Given the description of an element on the screen output the (x, y) to click on. 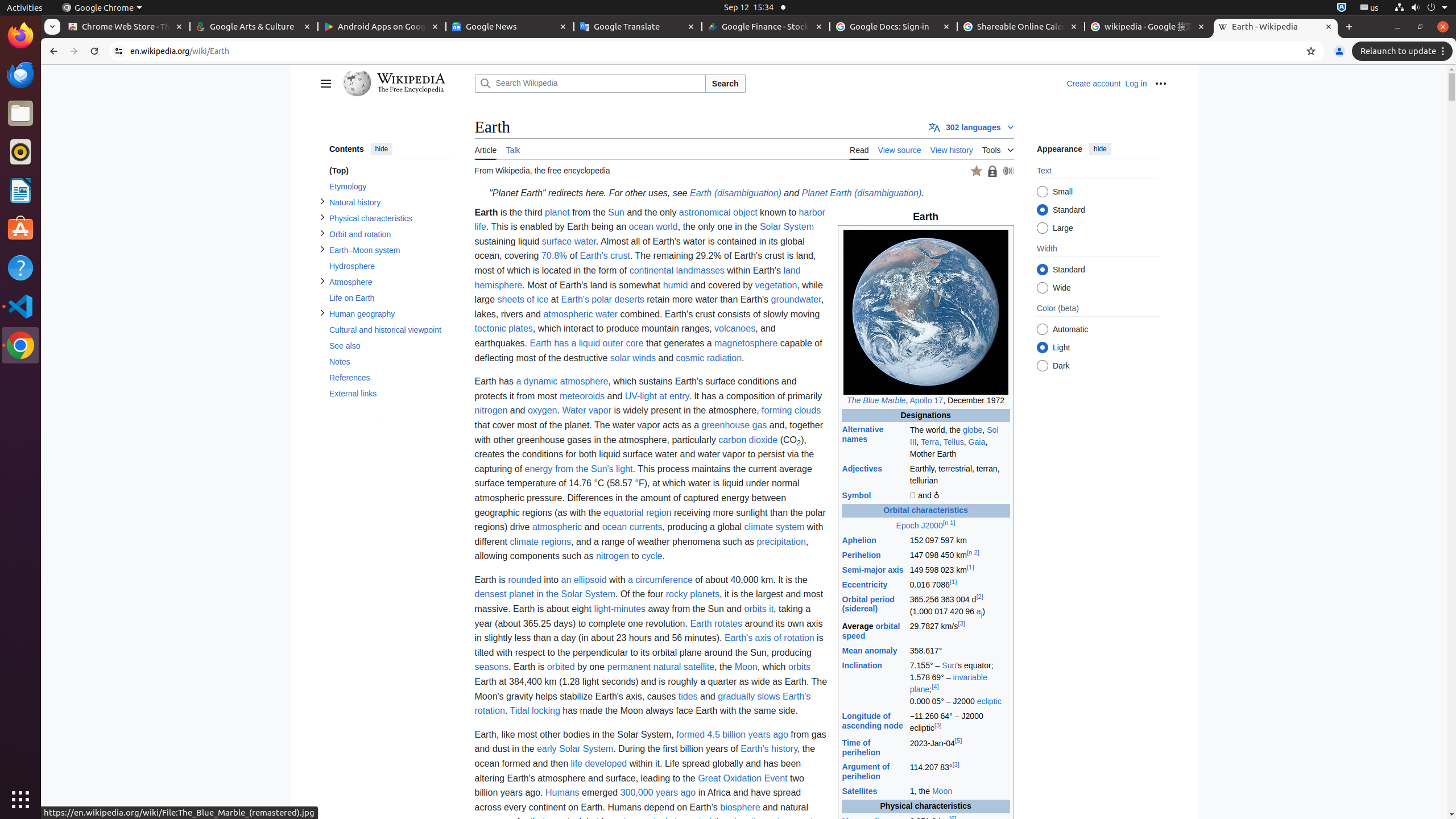
0.0167086[1] Element type: table-cell (959, 585)
Tools Element type: push-button (997, 148)
climate system Element type: link (773, 527)
precipitation Element type: link (780, 541)
J2000 Element type: link (931, 525)
